Given the description of an element on the screen output the (x, y) to click on. 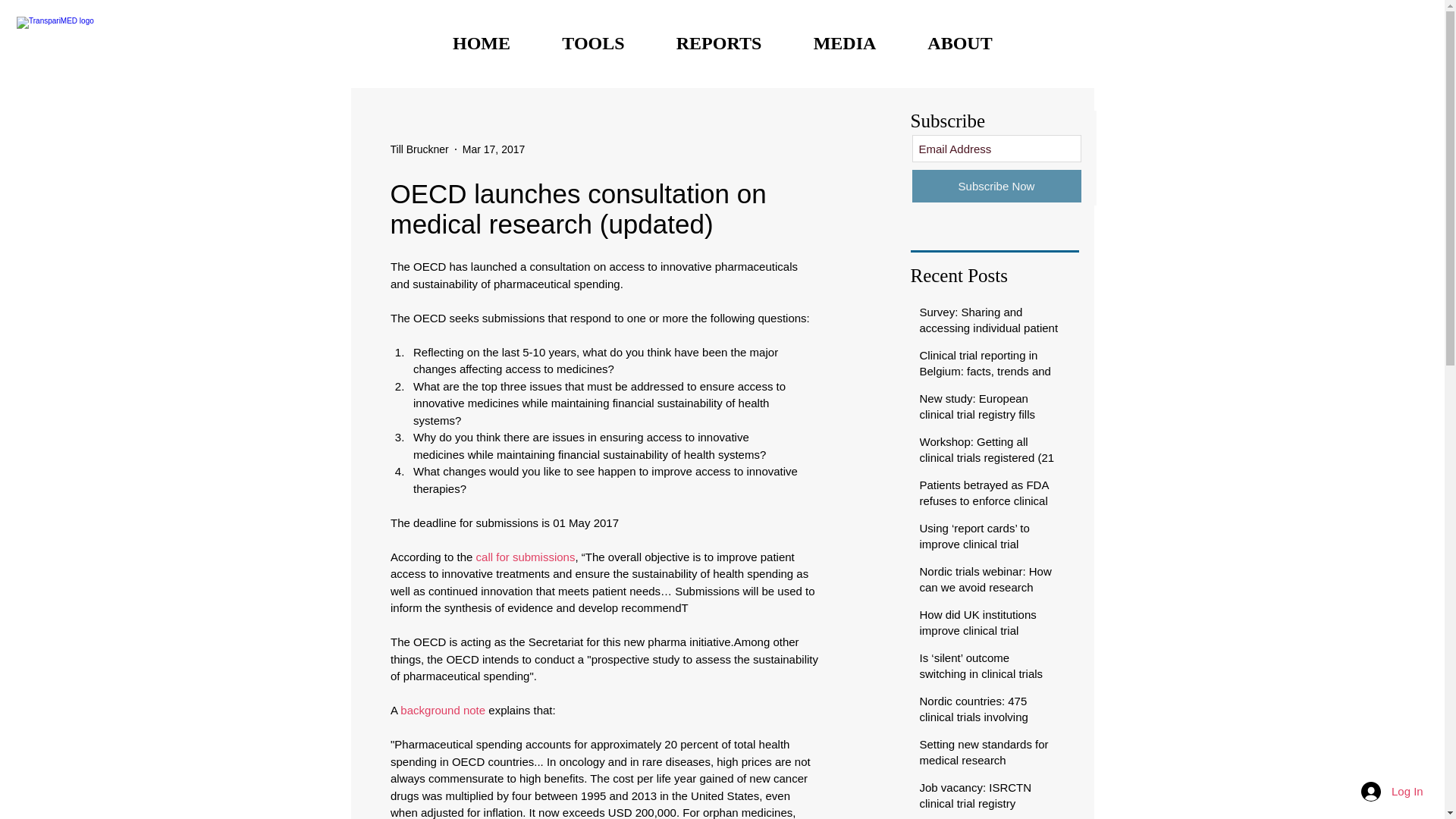
TOOLS (593, 43)
ABOUT (959, 43)
MEDIA (844, 43)
Till Bruckner (419, 148)
Mar 17, 2017 (494, 148)
